Given the description of an element on the screen output the (x, y) to click on. 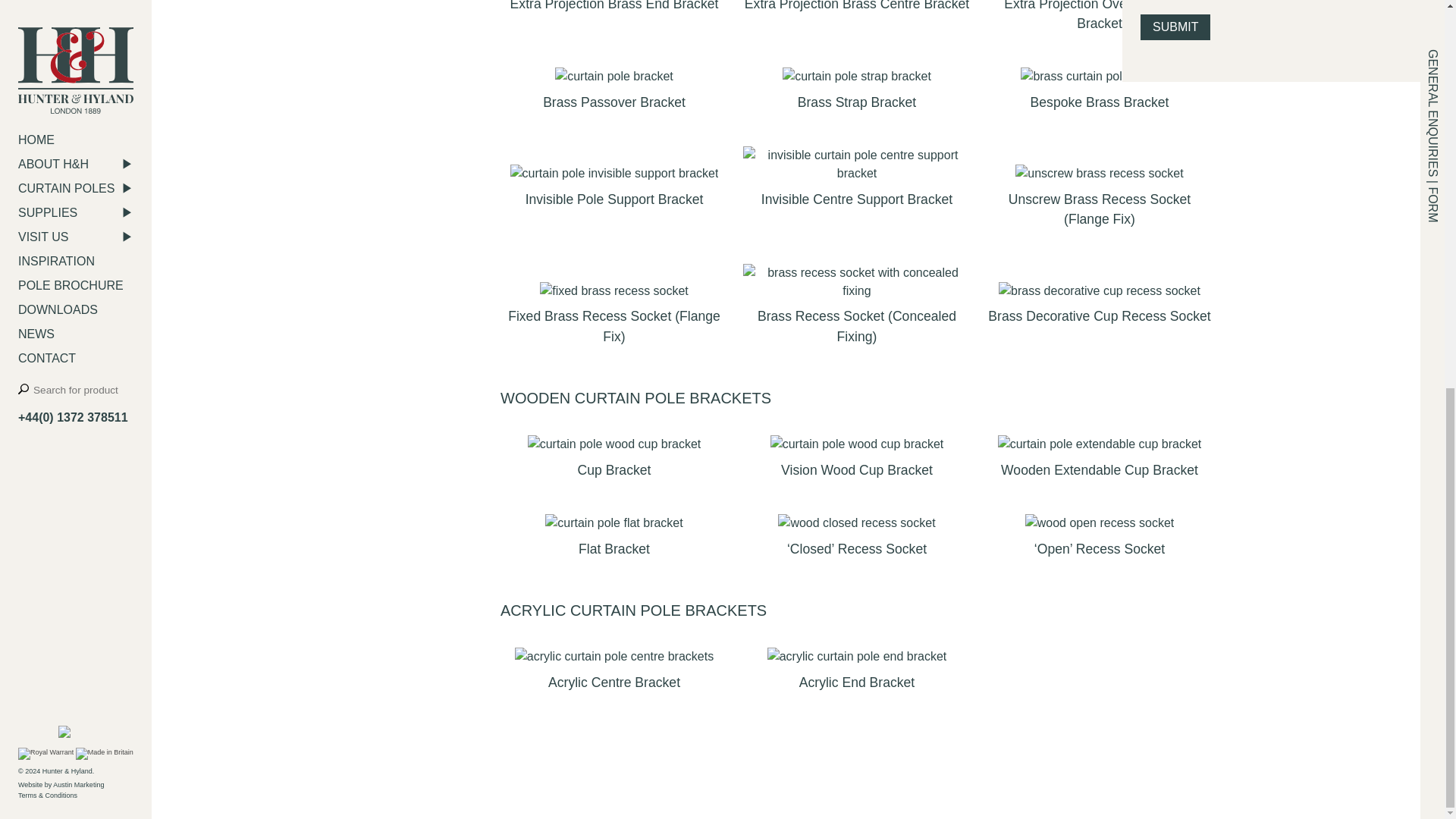
Brass Strap Bracket (856, 92)
Extra Projection Brass Centre Bracket (856, 10)
Extra Projection Overclip Centre Bracket (1098, 20)
Submit (1174, 27)
Brass Passover Bracket (614, 92)
Bespoke Brass Bracket (1098, 92)
Extra Projection Brass End Bracket (614, 10)
